Given the description of an element on the screen output the (x, y) to click on. 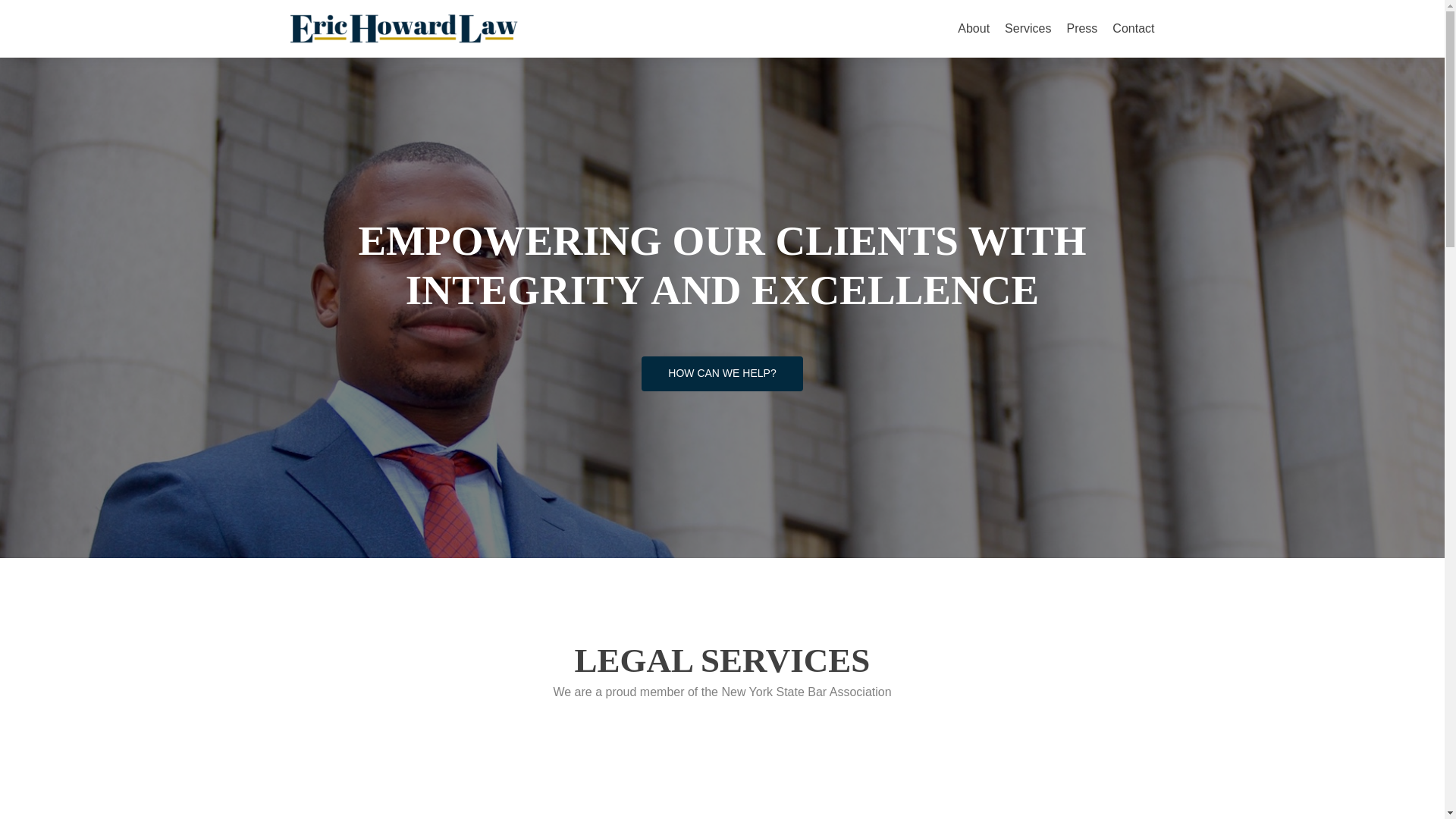
Press (1081, 28)
Services (1027, 28)
About (974, 28)
Contact (1133, 28)
HOW CAN WE HELP? (722, 373)
